Given the description of an element on the screen output the (x, y) to click on. 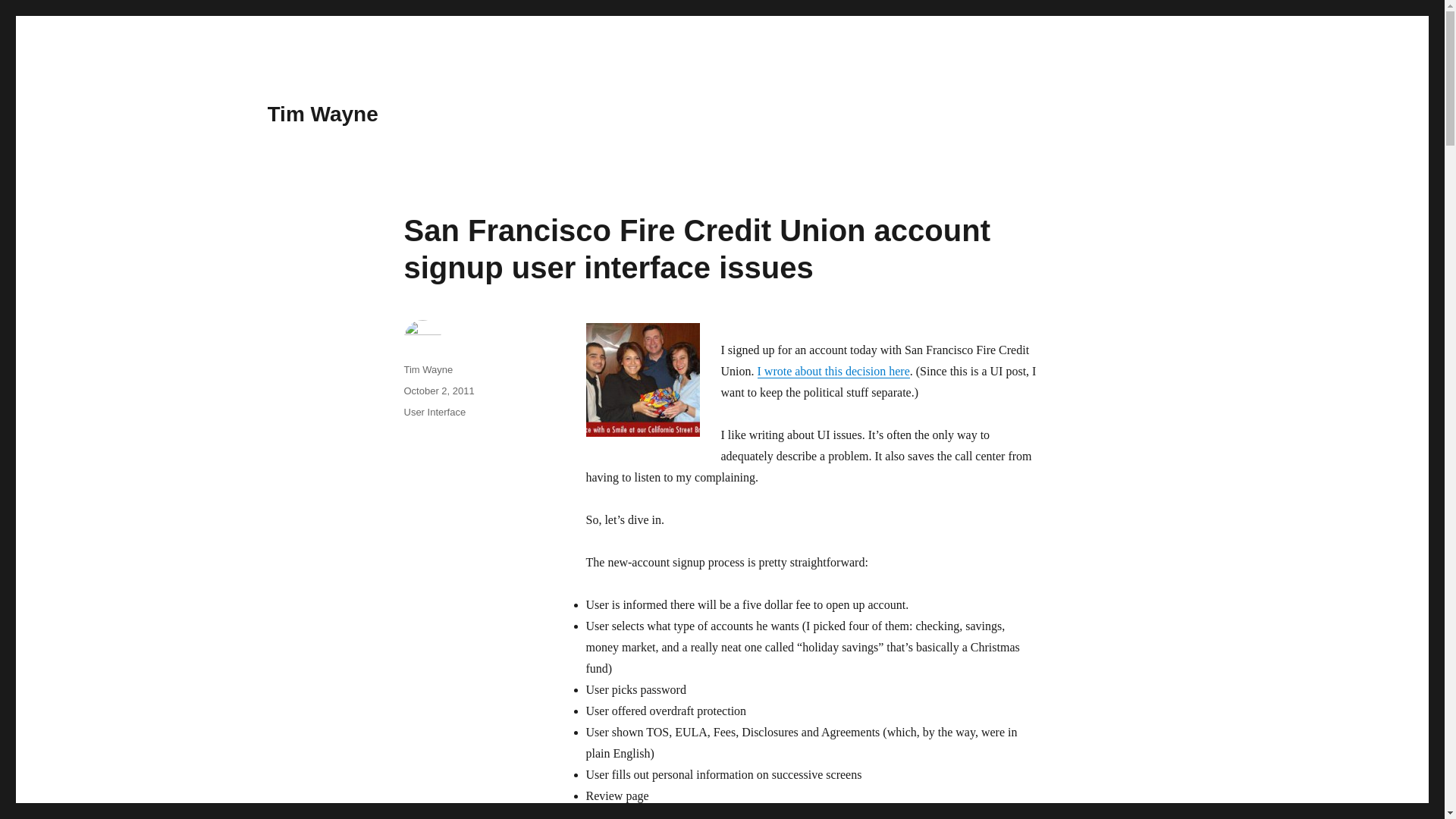
User Interface (434, 411)
Tim Wayne (321, 114)
October 2, 2011 (438, 390)
I wrote about this decision here (832, 370)
Tim Wayne (427, 369)
sl (641, 379)
